Given the description of an element on the screen output the (x, y) to click on. 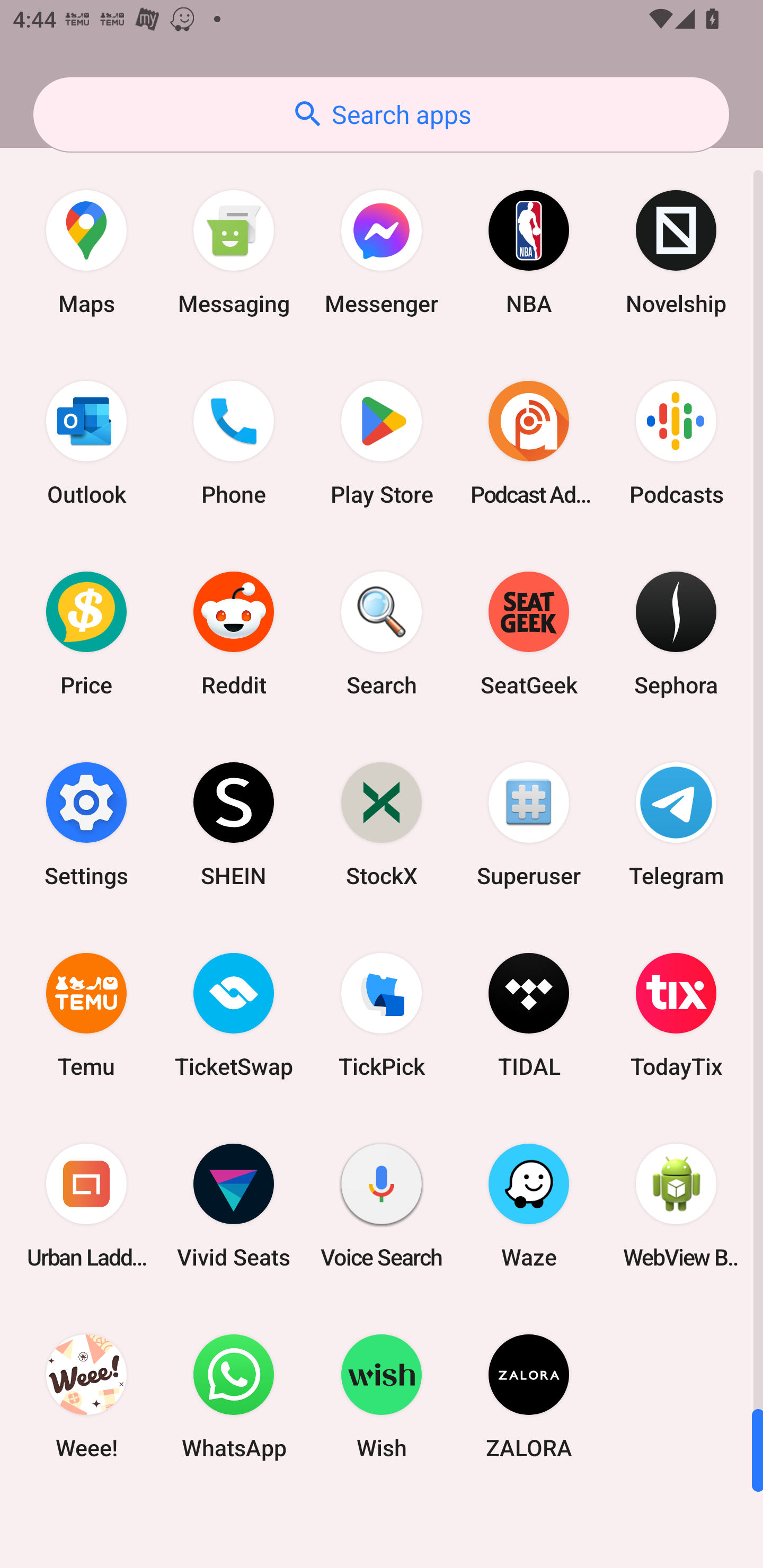
  Search apps (381, 114)
Maps (86, 252)
Messaging (233, 252)
Messenger (381, 252)
NBA (528, 252)
Novelship (676, 252)
Outlook (86, 442)
Phone (233, 442)
Play Store (381, 442)
Podcast Addict (528, 442)
Podcasts (676, 442)
Price (86, 633)
Reddit (233, 633)
Search (381, 633)
SeatGeek (528, 633)
Sephora (676, 633)
Settings (86, 823)
SHEIN (233, 823)
StockX (381, 823)
Superuser (528, 823)
Telegram (676, 823)
Temu (86, 1014)
TicketSwap (233, 1014)
TickPick (381, 1014)
TIDAL (528, 1014)
TodayTix (676, 1014)
Urban Ladder (86, 1205)
Vivid Seats (233, 1205)
Voice Search (381, 1205)
Waze (528, 1205)
WebView Browser Tester (676, 1205)
Weee! (86, 1396)
WhatsApp (233, 1396)
Wish (381, 1396)
ZALORA (528, 1396)
